Given the description of an element on the screen output the (x, y) to click on. 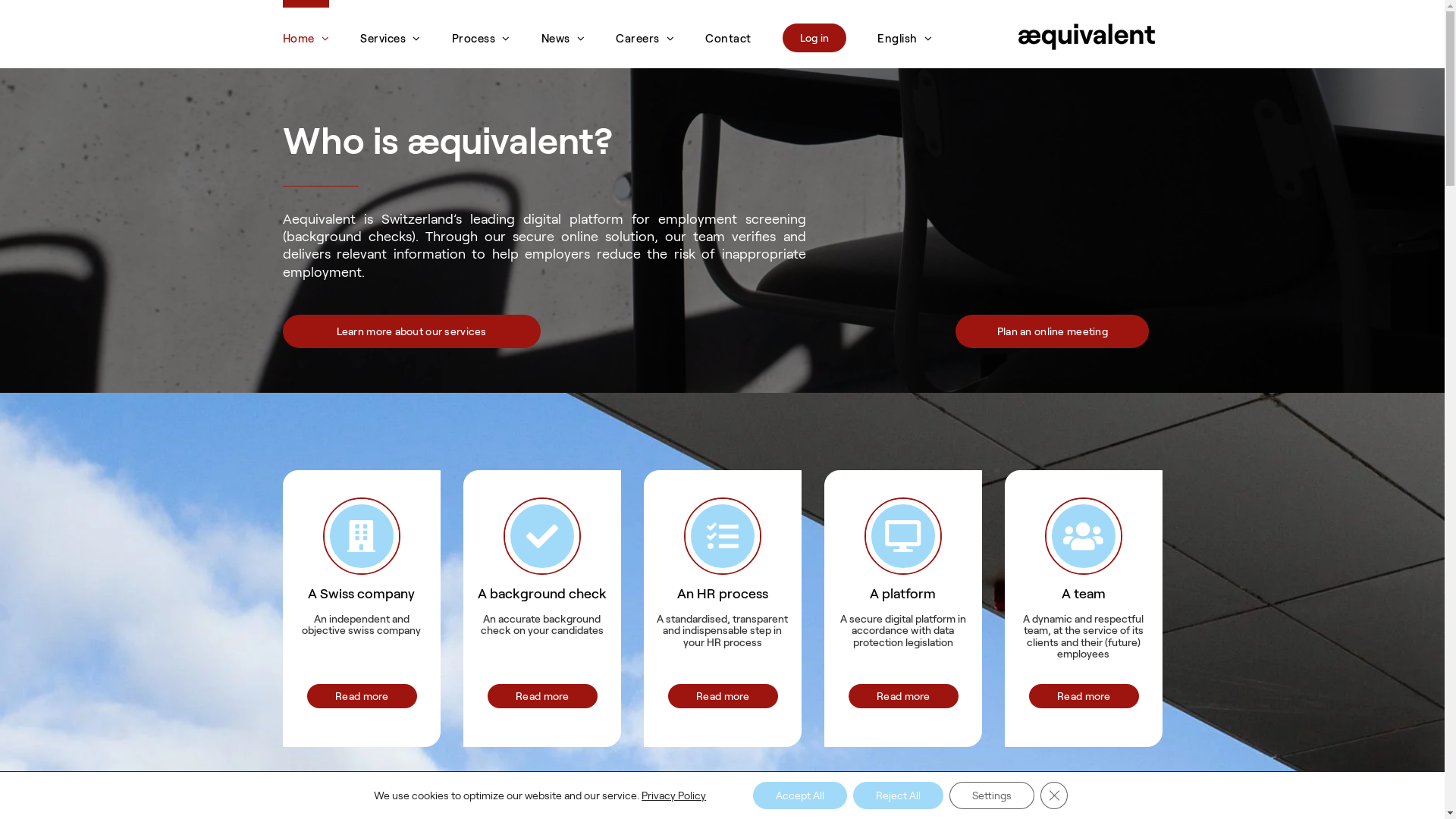
Learn more about our services Element type: text (410, 331)
Services Element type: text (390, 34)
Log in Element type: text (814, 34)
A team Element type: text (1082, 549)
Privacy Policy Element type: text (673, 794)
Read more Element type: text (1083, 696)
Reject All Element type: text (898, 795)
Home Element type: text (305, 34)
Contact Element type: text (728, 34)
English Element type: text (904, 34)
Plan an online meeting Element type: text (1051, 331)
A platform Element type: text (902, 549)
A background check Element type: text (541, 549)
Read more Element type: text (541, 696)
An HR process Element type: text (721, 549)
Read more Element type: text (361, 696)
Read more Element type: text (722, 696)
Accept All Element type: text (800, 795)
Process Element type: text (480, 34)
Careers Element type: text (644, 34)
Close GDPR Cookie Banner Element type: text (1053, 795)
Read more Element type: text (902, 696)
News Element type: text (563, 34)
A Swiss company Element type: text (360, 549)
Settings Element type: text (991, 795)
